Given the description of an element on the screen output the (x, y) to click on. 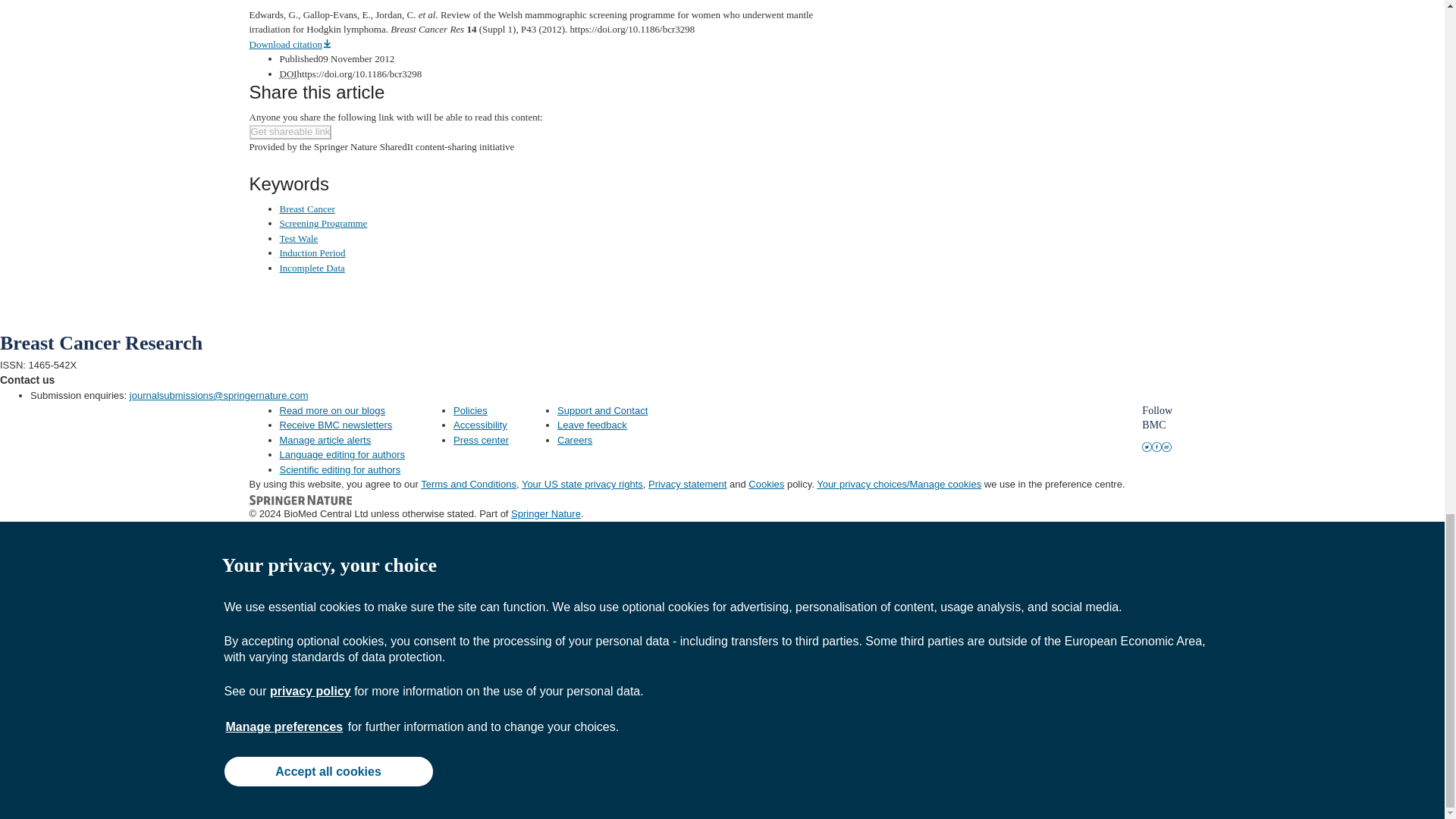
Digital Object Identifier (288, 73)
